Given the description of an element on the screen output the (x, y) to click on. 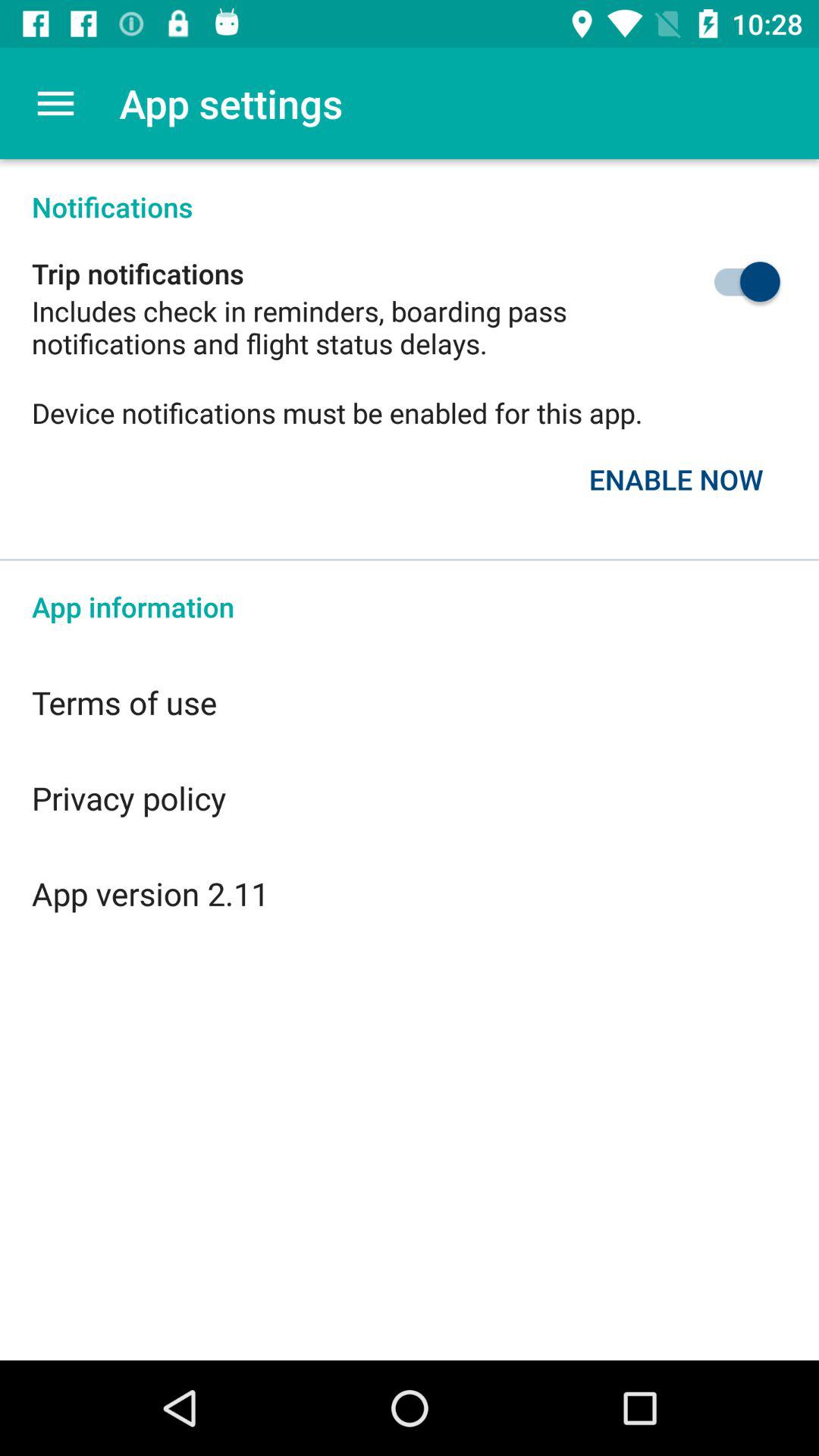
click icon to the right of the includes check in icon (711, 281)
